Given the description of an element on the screen output the (x, y) to click on. 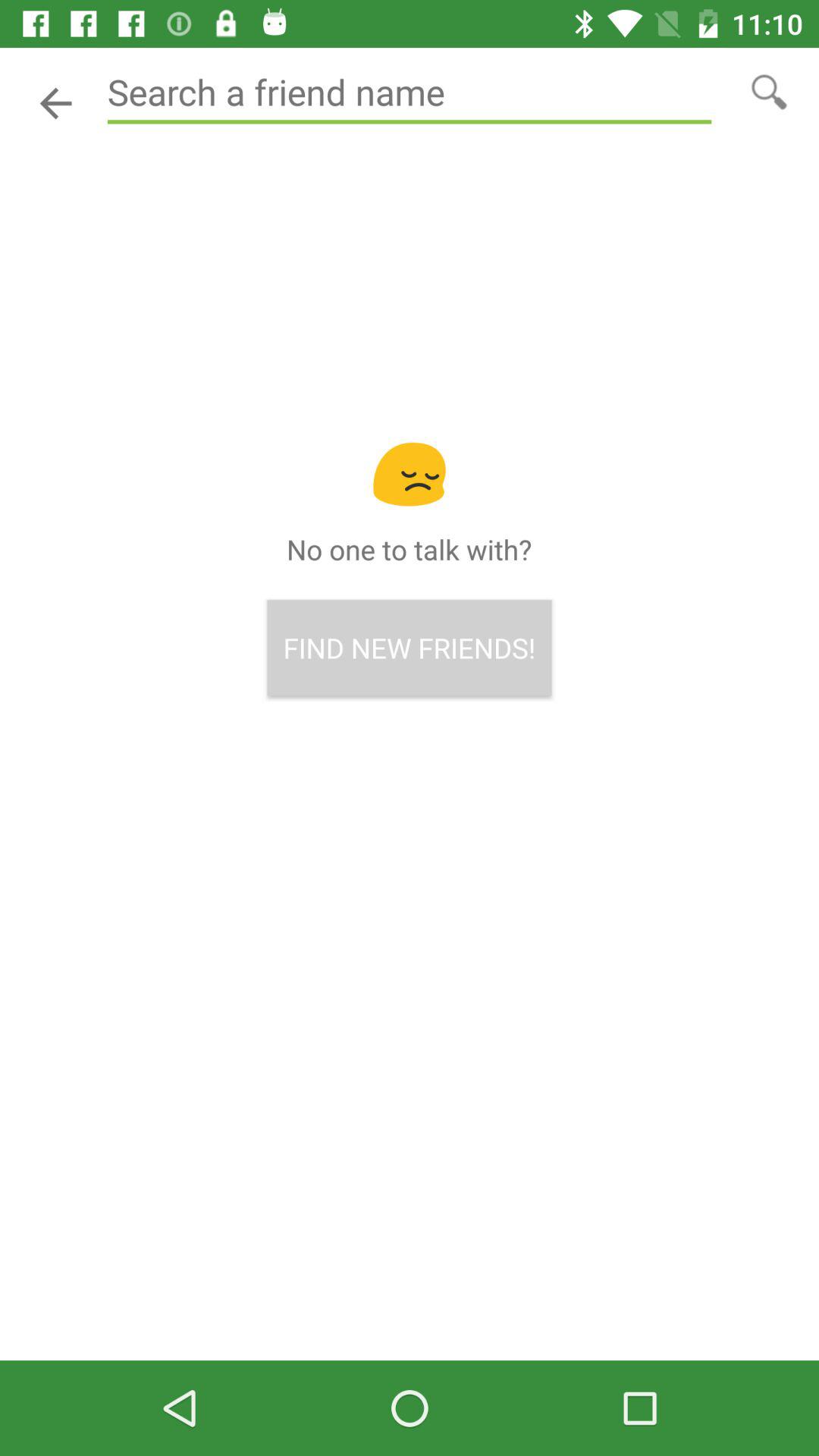
search button (769, 91)
